Given the description of an element on the screen output the (x, y) to click on. 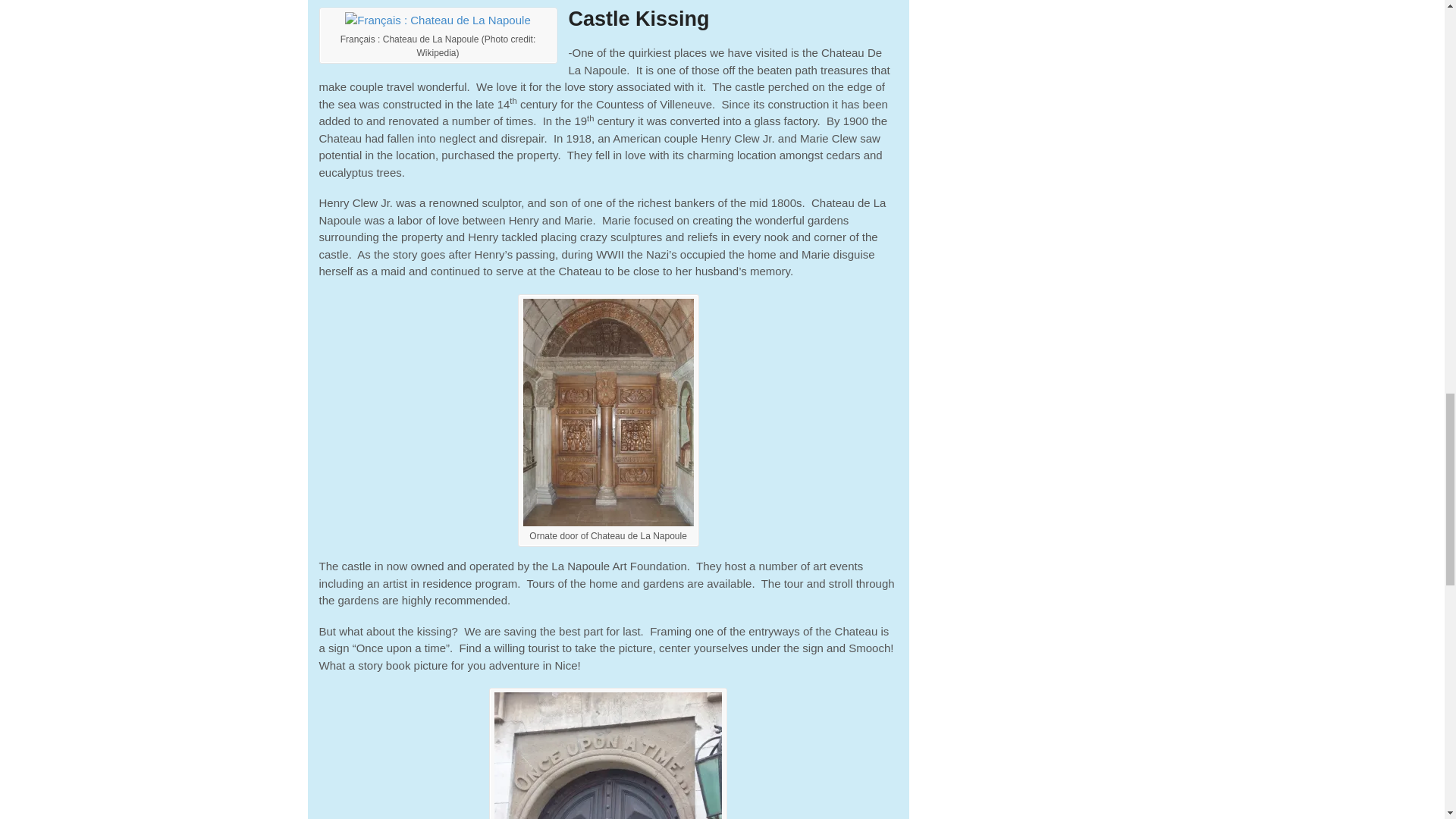
Once upon a time (608, 754)
